Given the description of an element on the screen output the (x, y) to click on. 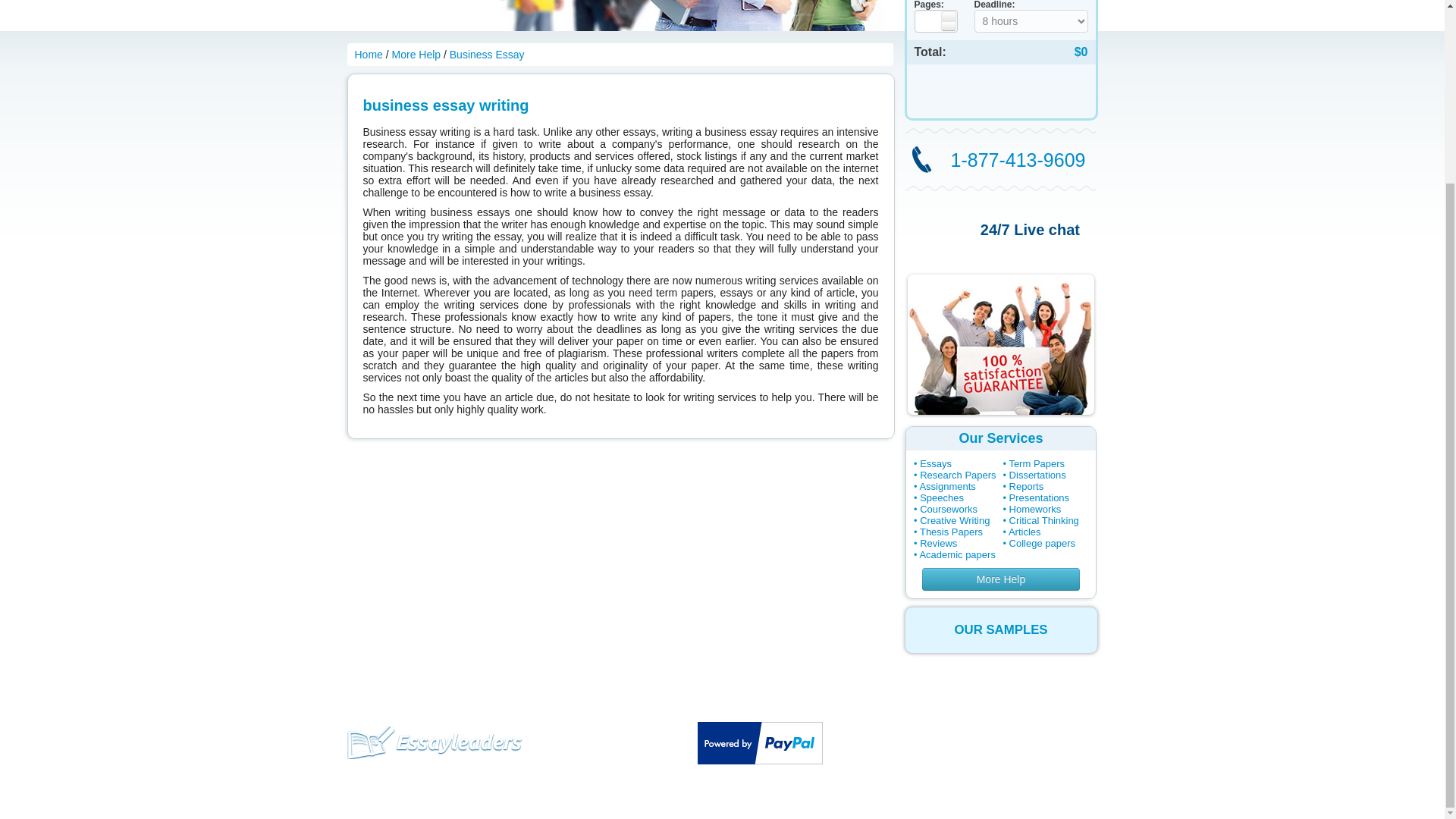
Assignments (946, 486)
Critical Thinking (1043, 520)
College papers (1042, 542)
Dissertations (1037, 474)
professional writing services (1000, 344)
Articles (1025, 531)
Presentations (1039, 497)
Pricing (442, 686)
Business Essay (486, 54)
Reviews (938, 542)
